Given the description of an element on the screen output the (x, y) to click on. 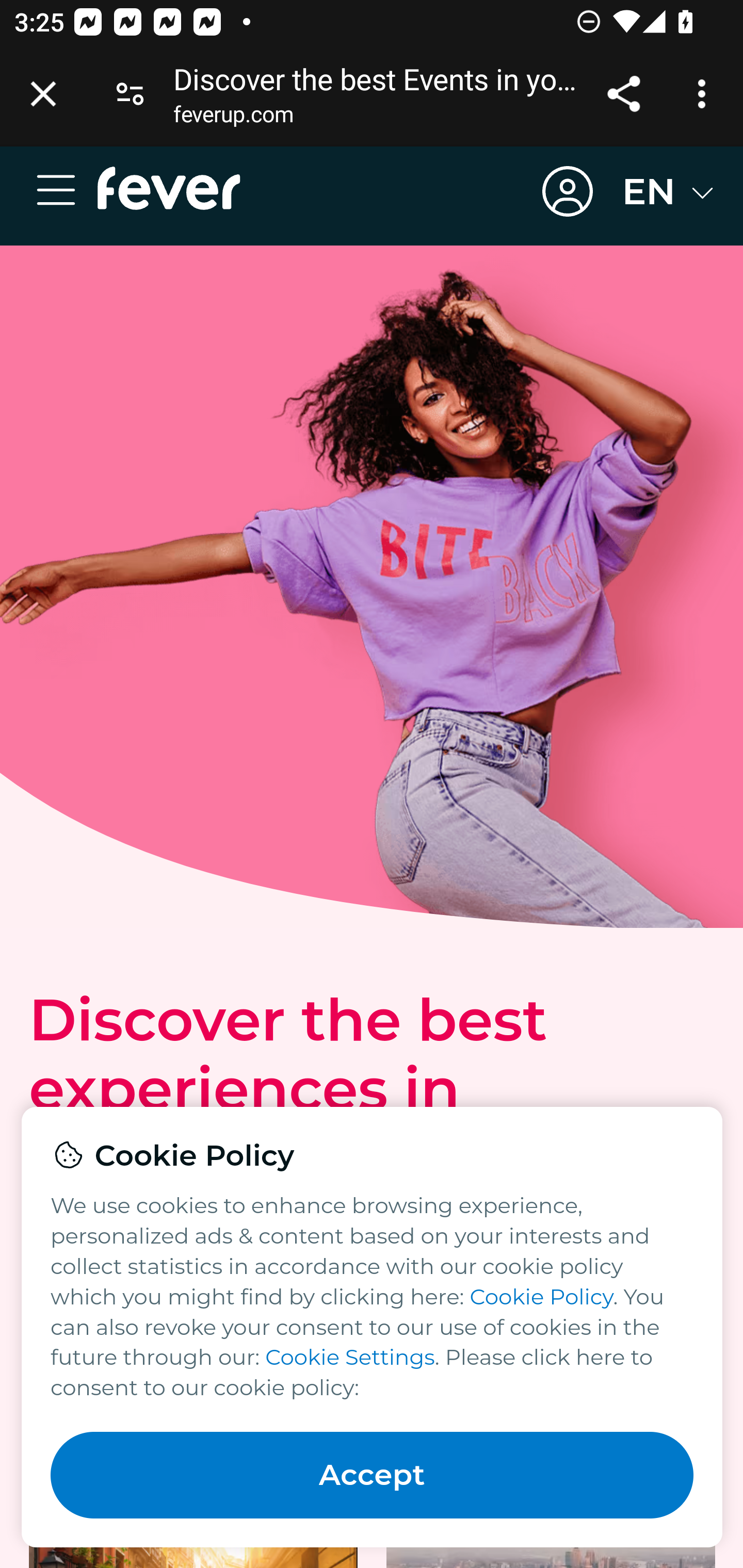
Close tab (43, 93)
Share link address (623, 93)
Customize and control Google Chrome (705, 93)
Connection is secure (129, 93)
feverup.com (233, 117)
User account (567, 191)
Fever (169, 187)
Toggle navigation (63, 191)
EN (668, 191)
your city  (187, 1158)
Cookie Policy (541, 1295)
Cookie Settings (348, 1356)
Accept (372, 1475)
